Given the description of an element on the screen output the (x, y) to click on. 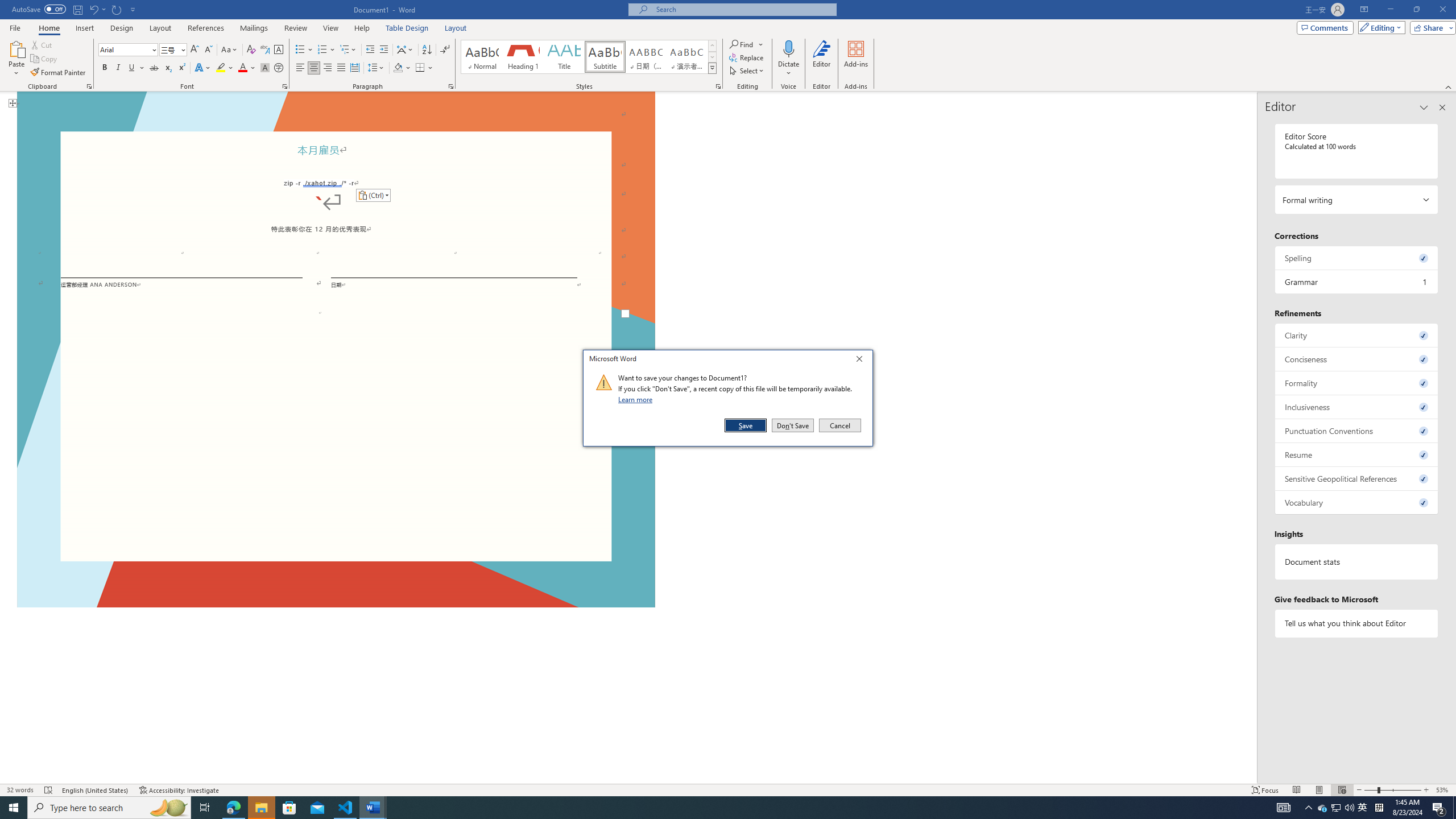
Tray Input Indicator - Chinese (Simplified, China) (1378, 807)
